Given the description of an element on the screen output the (x, y) to click on. 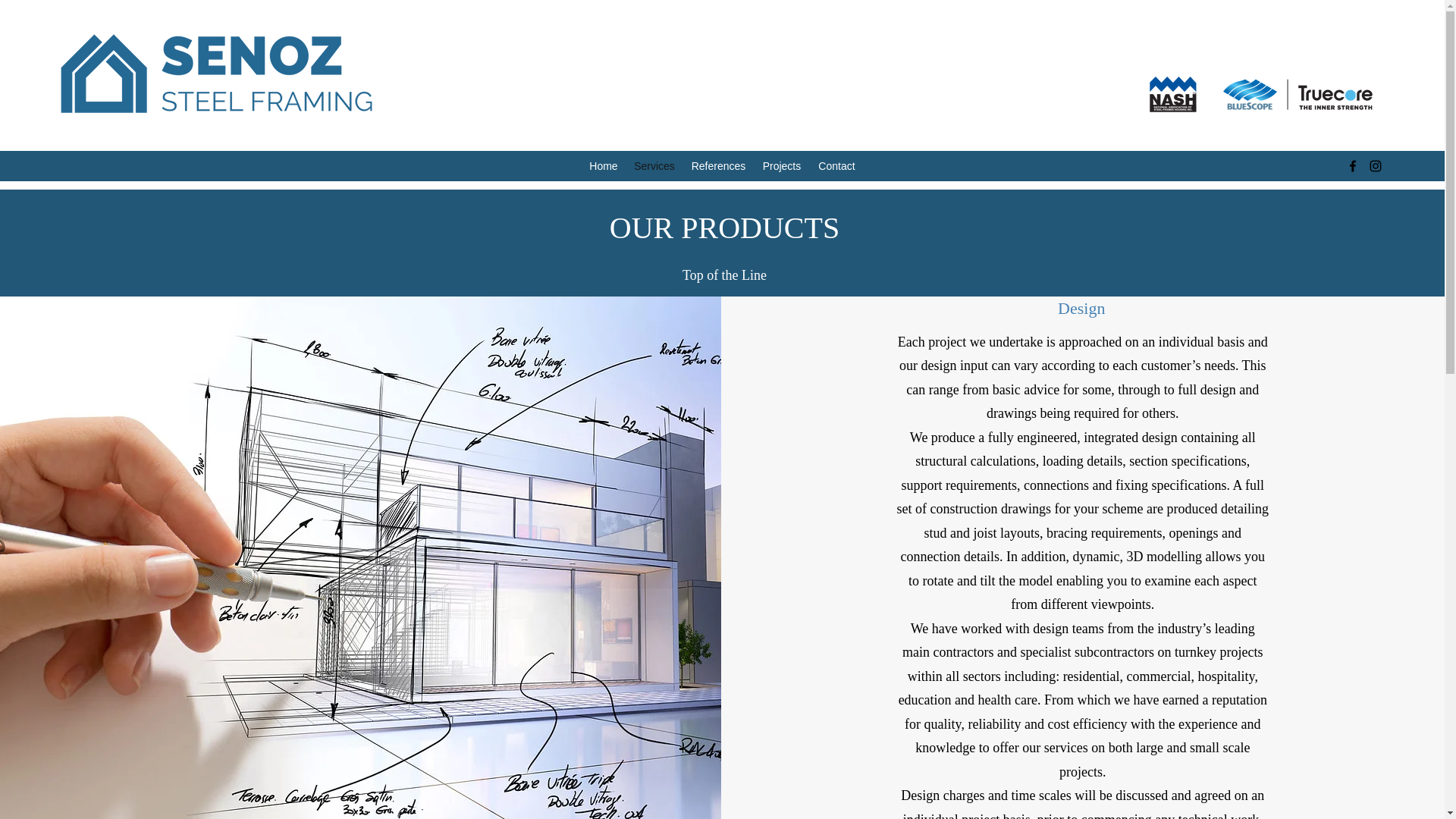
Services (654, 166)
Home (603, 166)
Contact (836, 166)
Projects (781, 166)
References (718, 166)
